Given the description of an element on the screen output the (x, y) to click on. 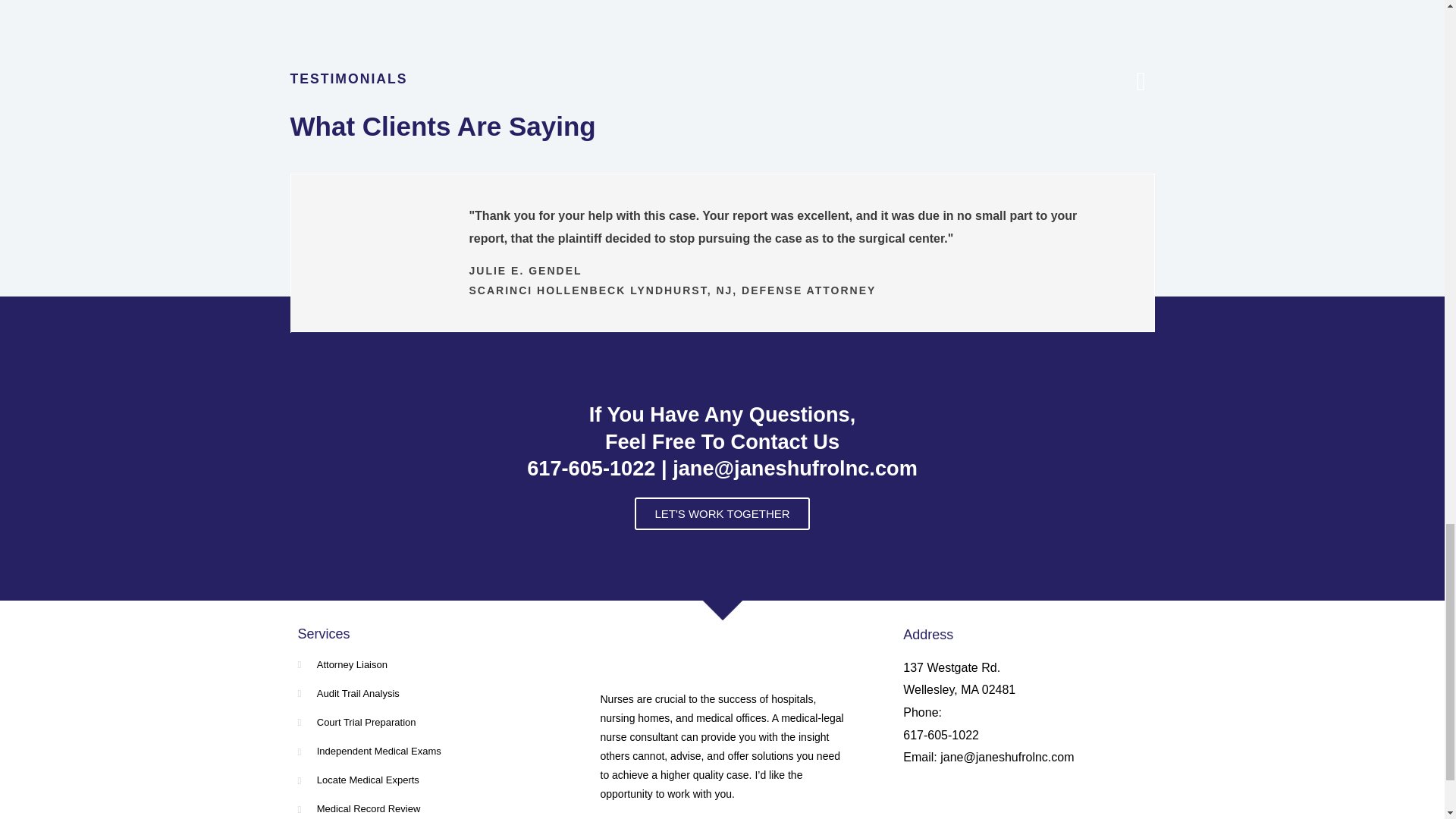
Locate Medical Experts (419, 780)
LET'S WORK TOGETHER (721, 513)
Independent Medical Exams (419, 751)
Audit Trail Analysis (419, 693)
Attorney Liaison (419, 665)
Court Trial Preparation (419, 722)
Medical Record Review (419, 809)
